Given the description of an element on the screen output the (x, y) to click on. 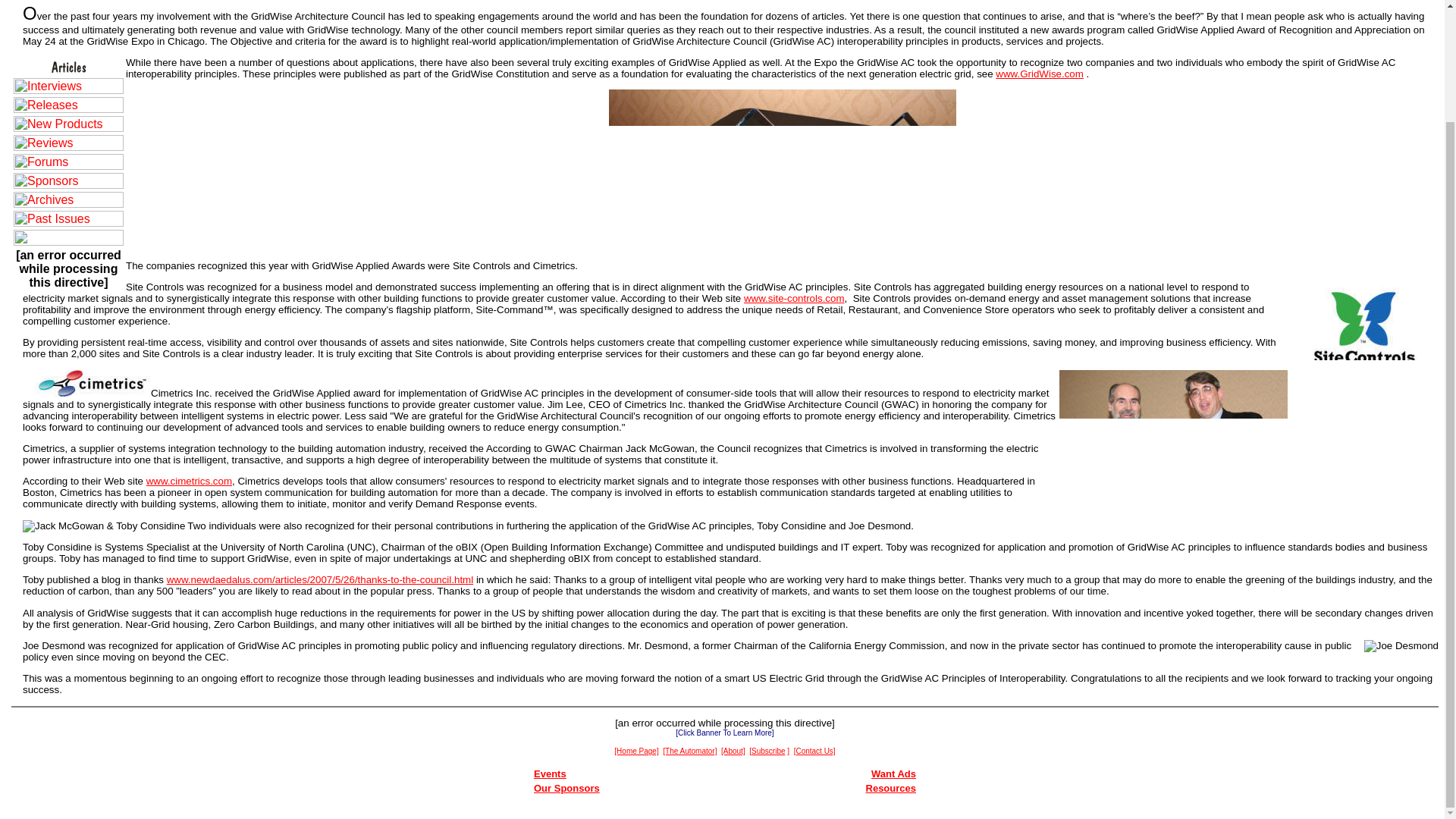
Want Ads (892, 773)
www.cimetrics.com (189, 480)
Resources (890, 787)
Events (550, 773)
Subscribe (767, 749)
Our Sponsors (566, 787)
www.GridWise.com (1039, 73)
www.site-controls.com (794, 297)
